Given the description of an element on the screen output the (x, y) to click on. 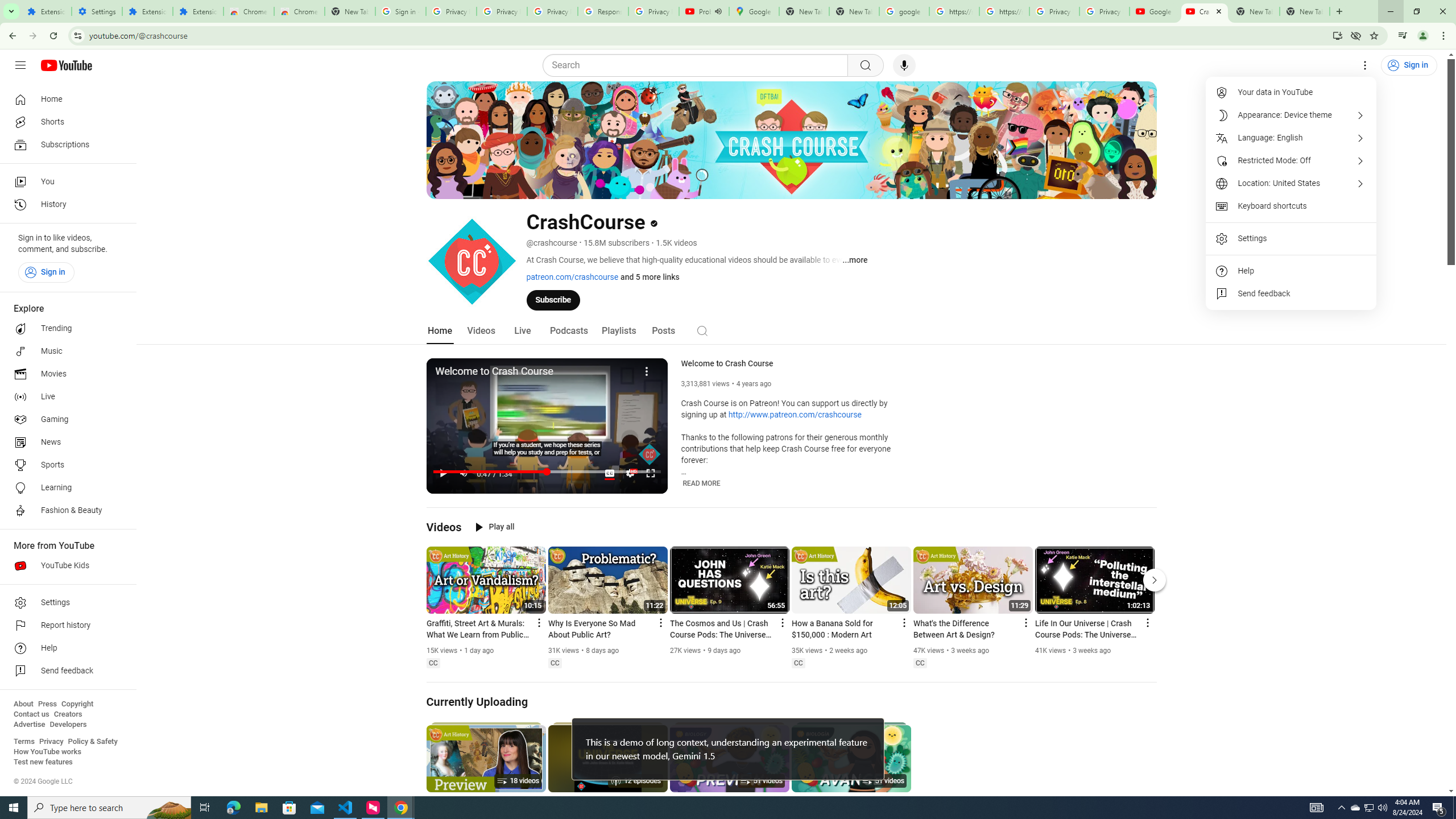
Channel watermark (649, 454)
Search with your voice (903, 65)
Gaming (64, 419)
Contact us (31, 714)
About (23, 703)
Learning (64, 487)
Keyboard shortcuts (1291, 205)
YouTube Kids (64, 565)
Creators (67, 714)
